Given the description of an element on the screen output the (x, y) to click on. 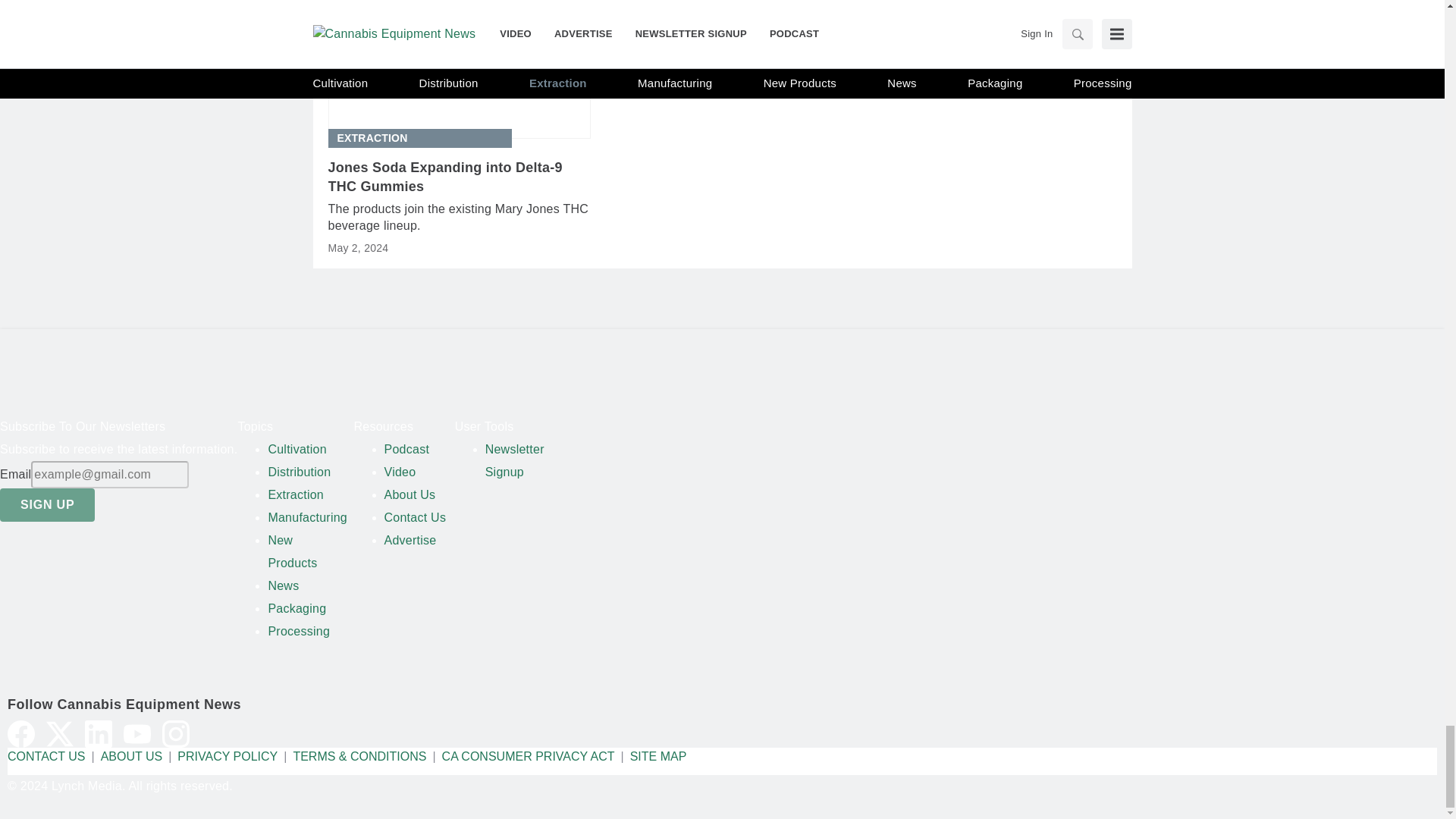
Facebook icon (20, 733)
YouTube icon (137, 733)
LinkedIn icon (98, 733)
Instagram icon (175, 733)
Twitter X icon (60, 733)
